Given the description of an element on the screen output the (x, y) to click on. 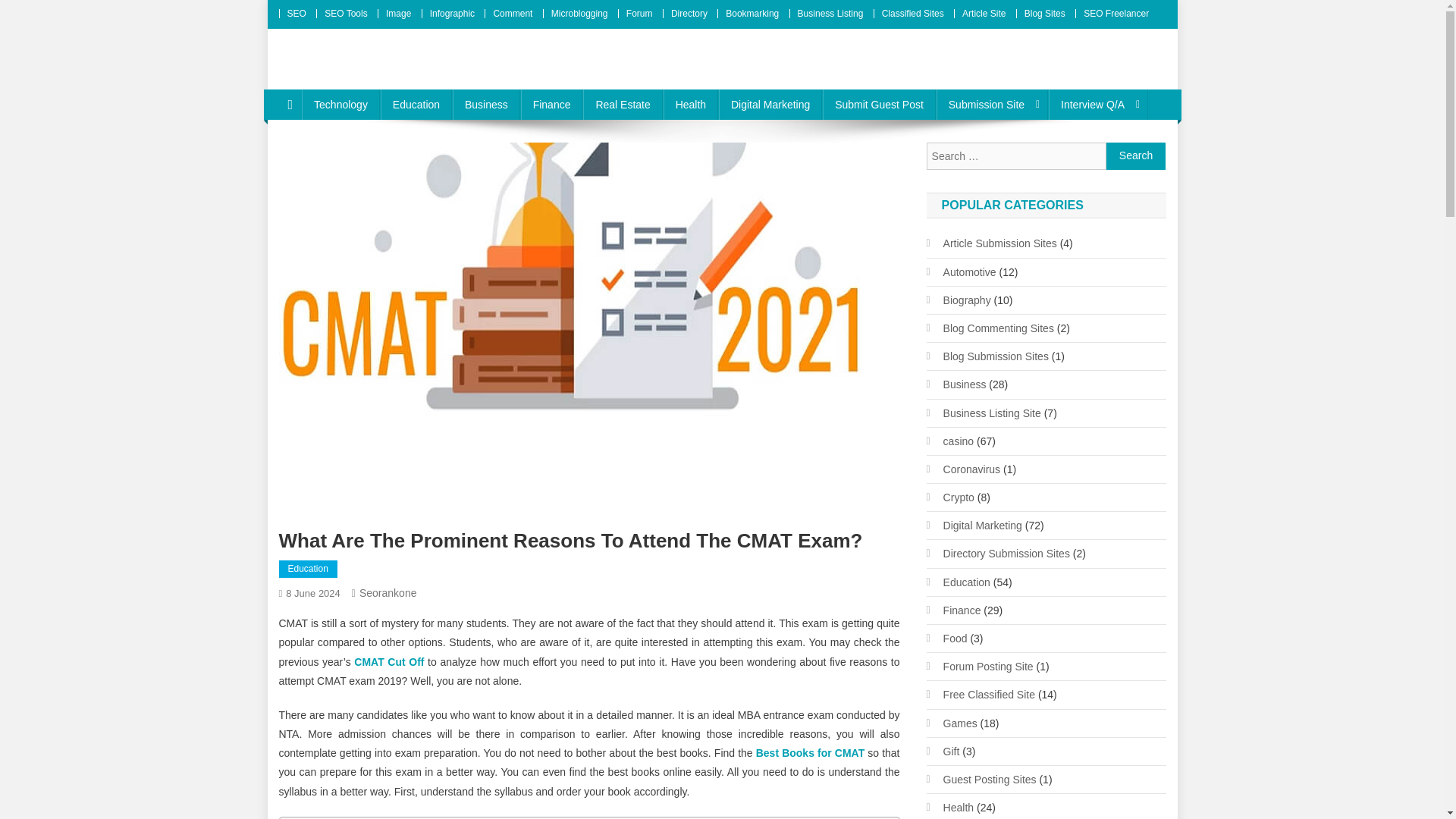
Business (485, 104)
Infographic (451, 13)
Bookmarking (751, 13)
Microblogging (579, 13)
Submit Guest Post (879, 104)
Skip to content (301, 9)
SEO (295, 13)
Education (415, 104)
Submission Site (992, 104)
Health (690, 104)
Article Site (984, 13)
Search (1136, 155)
Classified Sites (912, 13)
SEO Freelancer (1115, 13)
Technology (340, 104)
